Given the description of an element on the screen output the (x, y) to click on. 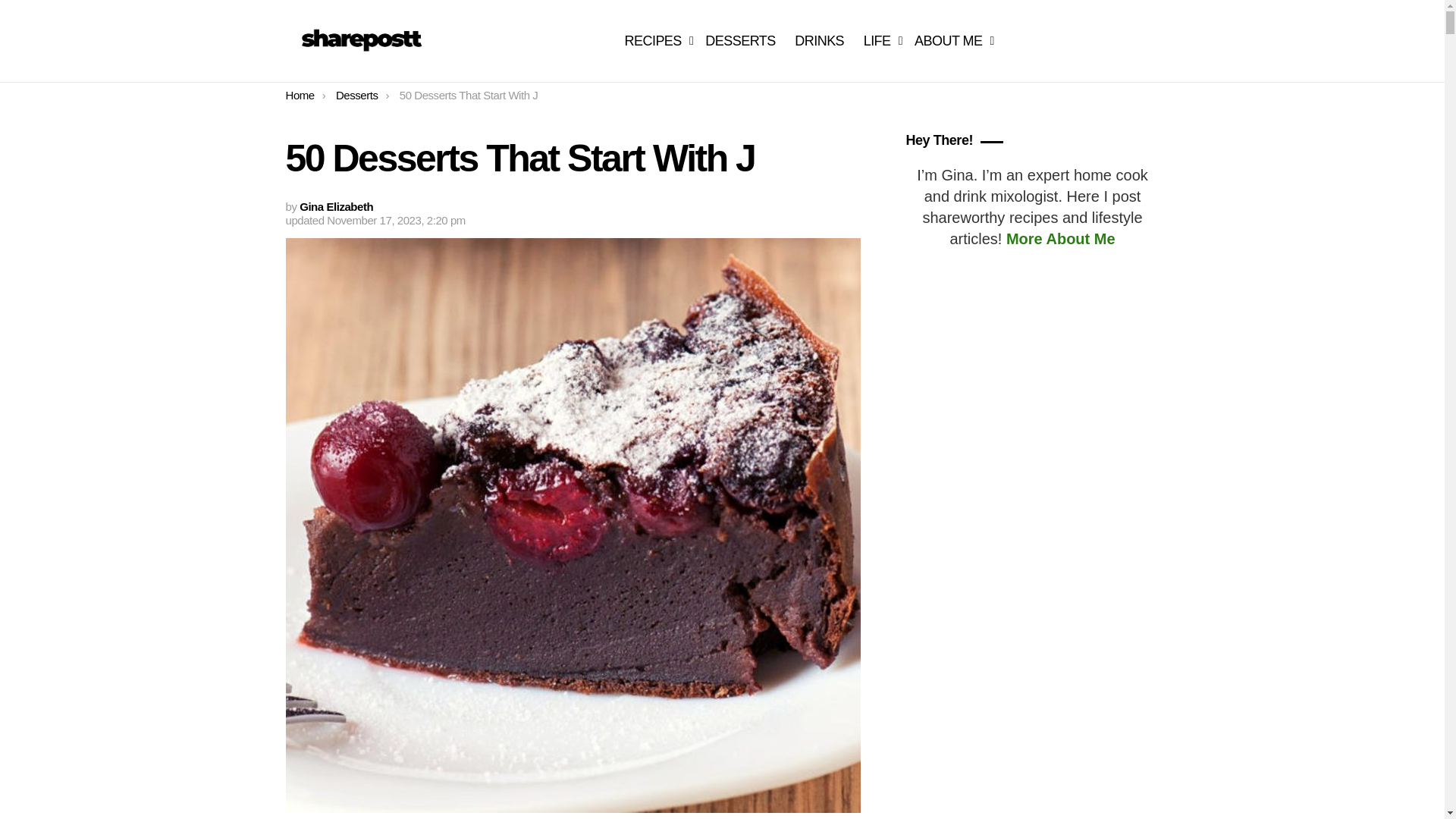
RECIPES (655, 40)
DESSERTS (740, 40)
Posts by Gina Elizabeth (335, 205)
Home (299, 94)
DRINKS (819, 40)
LIFE (879, 40)
ABOUT ME (950, 40)
Gina Elizabeth (335, 205)
Desserts (357, 94)
